Given the description of an element on the screen output the (x, y) to click on. 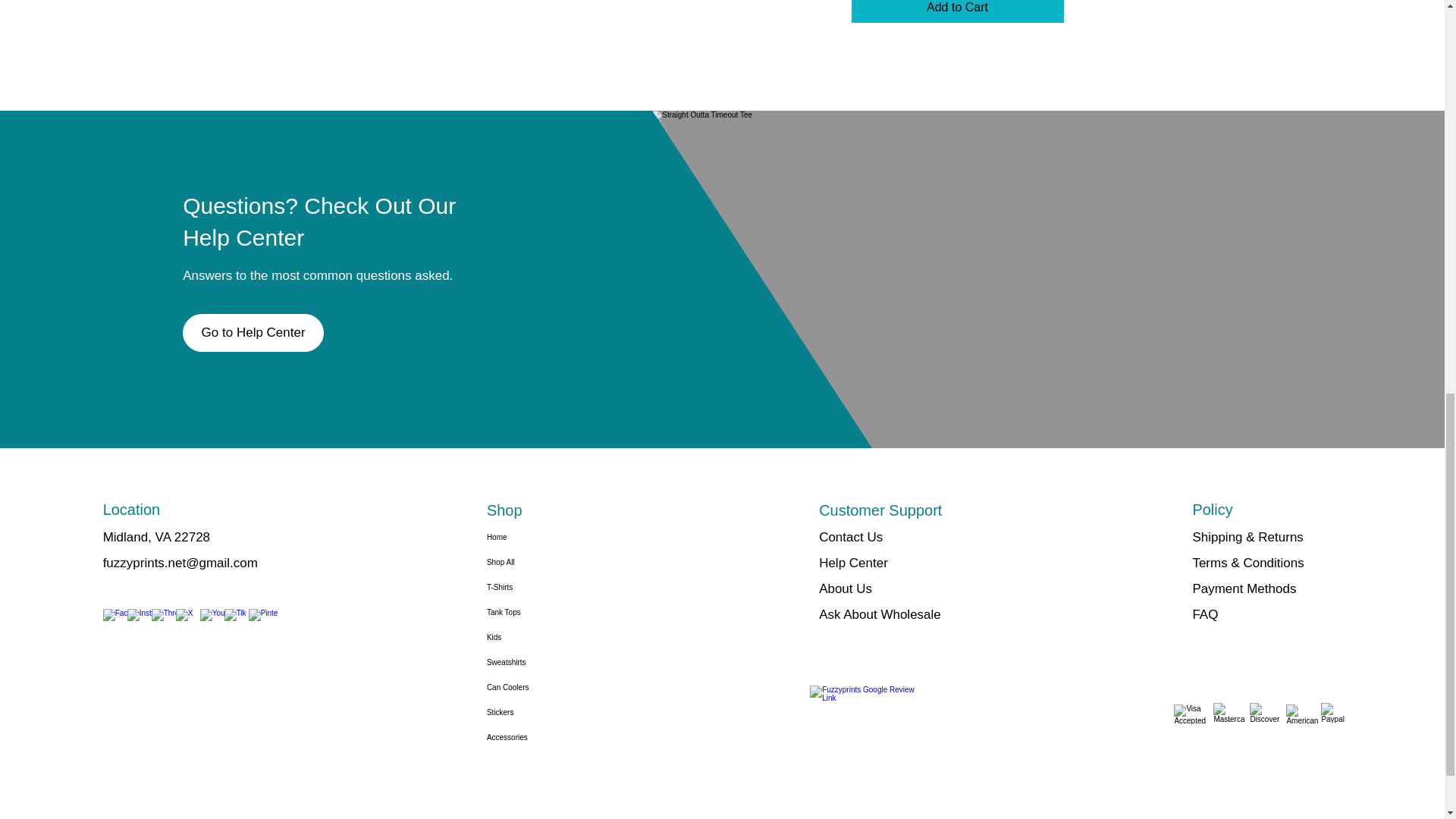
Tank Tops (532, 611)
T-Shirts (532, 586)
Add to Cart (956, 11)
Sweatshirts (532, 662)
Contact Us (850, 536)
Help Center (853, 563)
Kids (532, 637)
GoogleReview.png (865, 712)
Can Coolers (532, 687)
Accessories (532, 737)
